Given the description of an element on the screen output the (x, y) to click on. 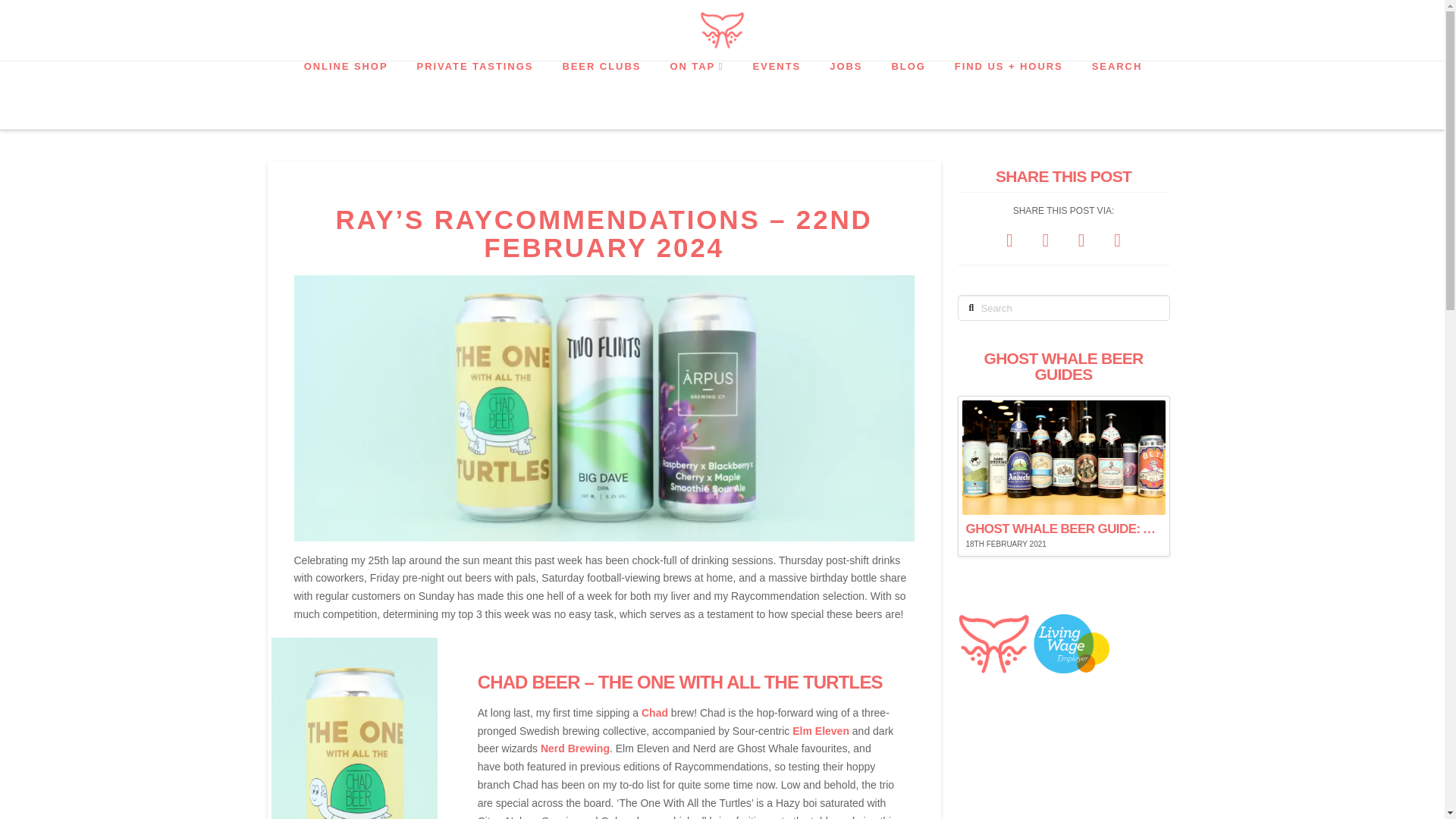
PRIVATE TASTINGS (474, 95)
Share on X (1044, 239)
CHAD BEER (528, 681)
Share on Facebook (1009, 239)
ONLINE SHOP (344, 95)
Chad (655, 712)
BLOG (907, 95)
Nerd Brewing (575, 748)
JOBS (844, 95)
